Given the description of an element on the screen output the (x, y) to click on. 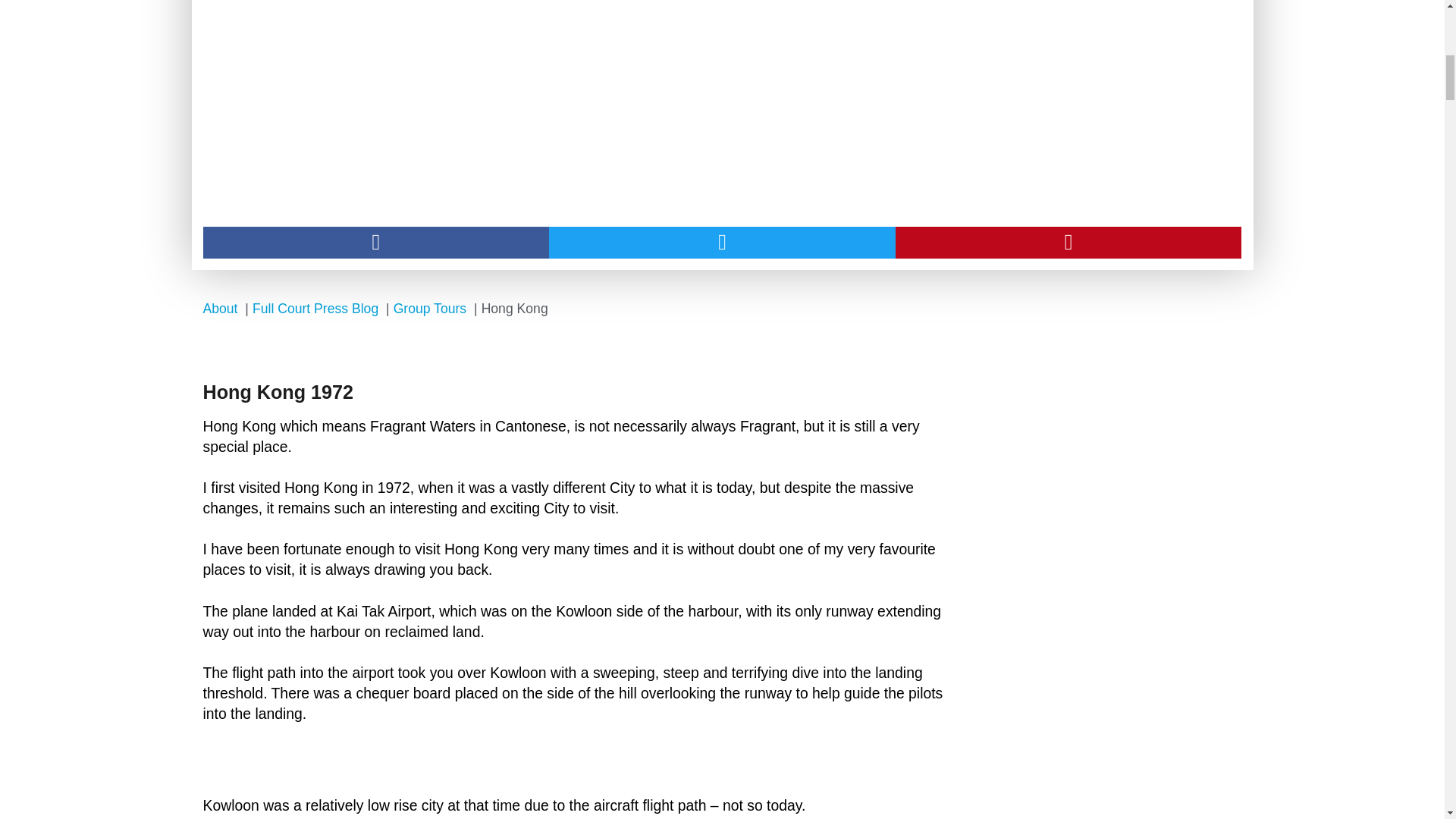
Group Tours (430, 308)
Full Court Press Blog (314, 308)
About (220, 308)
